Given the description of an element on the screen output the (x, y) to click on. 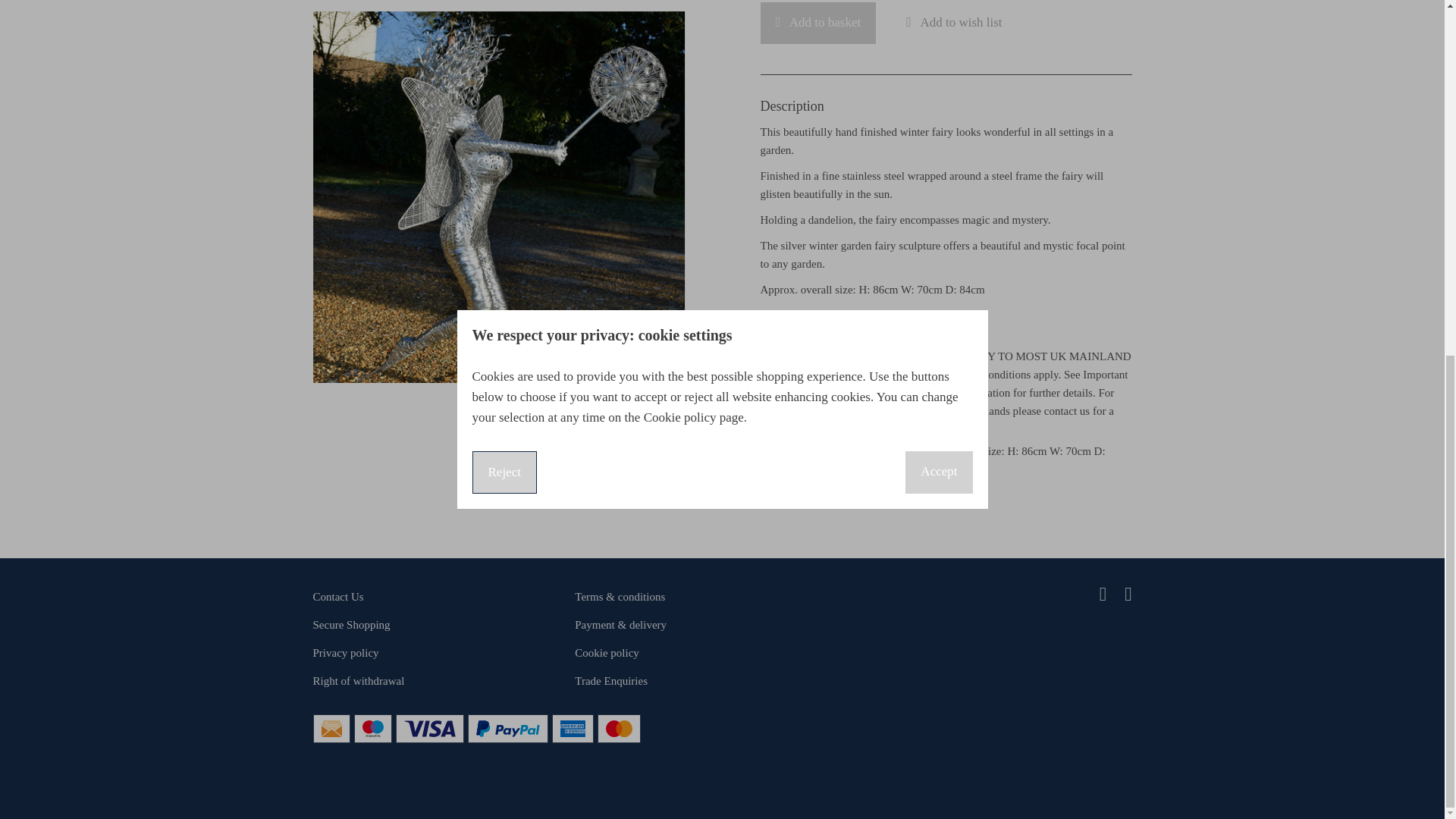
MasterCard (619, 728)
Visa (429, 728)
Invoice (331, 728)
PayPal (508, 728)
American Express (572, 728)
Maestro (373, 728)
